Given the description of an element on the screen output the (x, y) to click on. 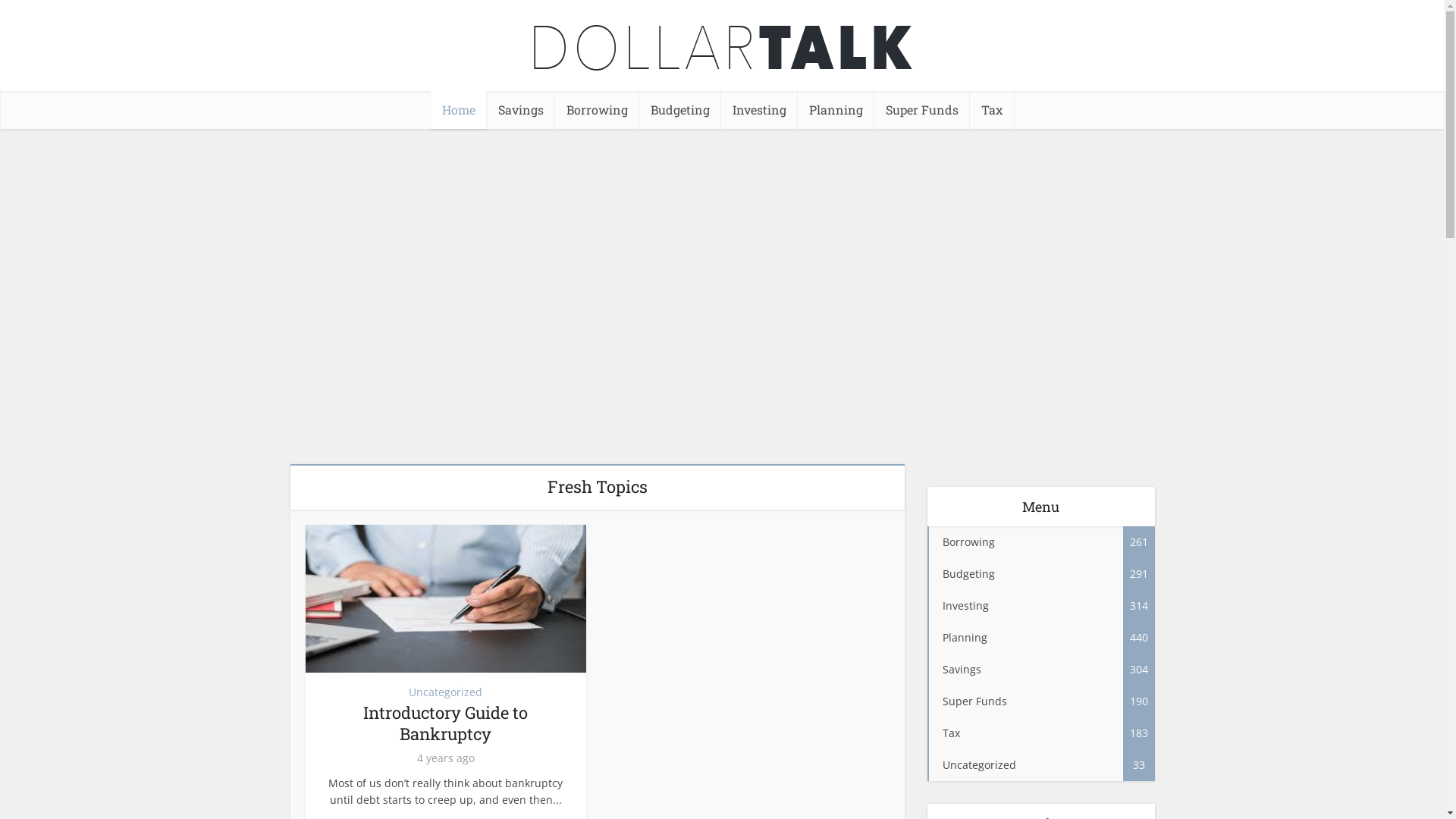
Budgeting
291 Element type: text (1040, 573)
Planning
440 Element type: text (1040, 637)
Borrowing
261 Element type: text (1040, 542)
Budgeting Element type: text (680, 109)
Uncategorized
33 Element type: text (1040, 765)
Tax
183 Element type: text (1040, 733)
Introductory Guide to Bankruptcy Element type: text (445, 722)
Investing Element type: text (759, 109)
Tax Element type: text (991, 109)
Investing
314 Element type: text (1040, 605)
Savings Element type: text (520, 109)
Super Funds
190 Element type: text (1040, 701)
Savings
304 Element type: text (1040, 669)
Super Funds Element type: text (921, 109)
Uncategorized Element type: text (445, 692)
Borrowing Element type: text (597, 109)
Home Element type: text (458, 109)
DollarTalk.com.au Element type: hover (722, 49)
Planning Element type: text (835, 109)
